Given the description of an element on the screen output the (x, y) to click on. 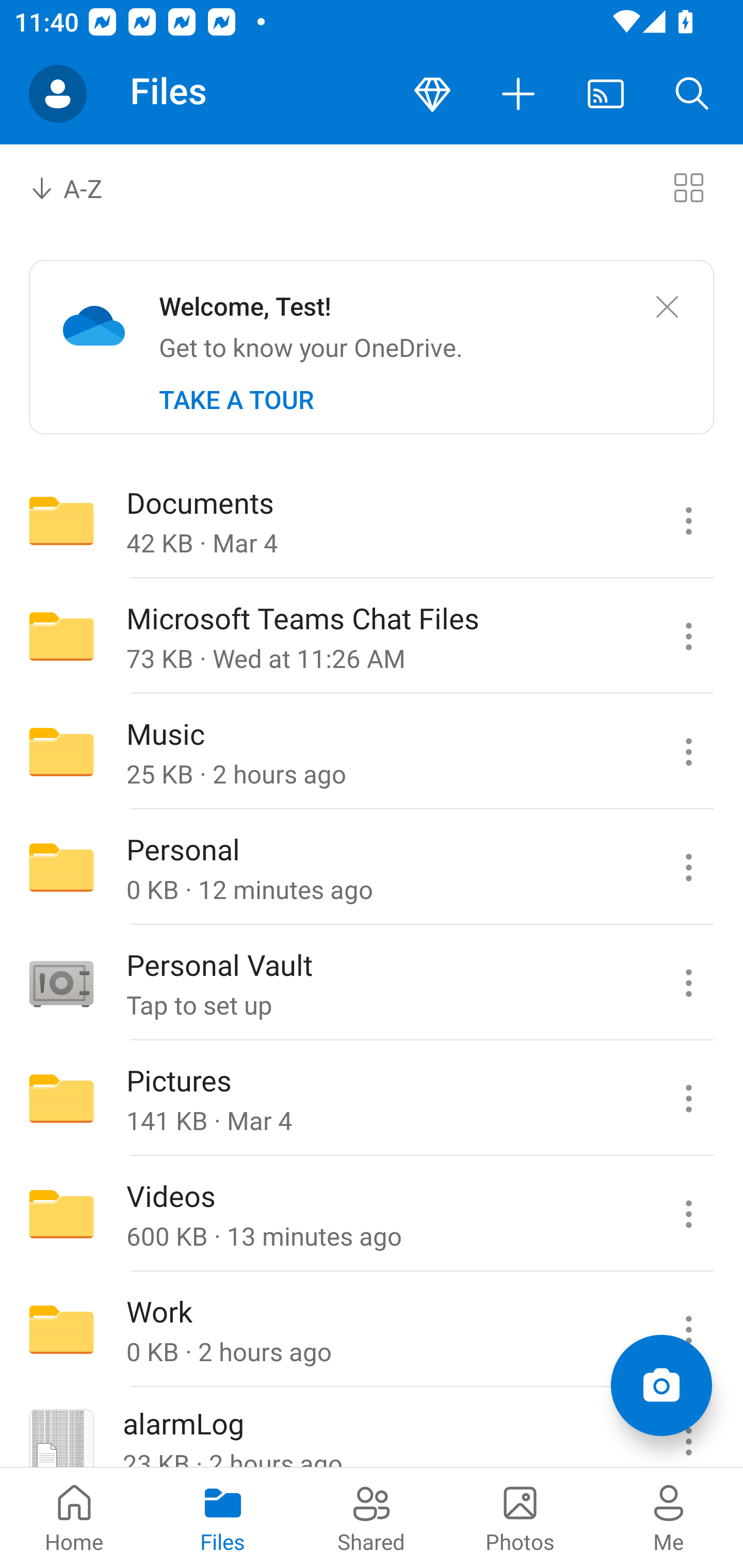
Account switcher (57, 93)
Cast. Disconnected (605, 93)
Premium button (432, 93)
More actions button (518, 93)
Search button (692, 93)
A-Z Sort by combo box, sort by name, A to Z (80, 187)
Switch to tiles view (688, 187)
Close (667, 307)
TAKE A TOUR (236, 399)
Folder Documents 42 KB · Mar 4 Documents commands (371, 520)
Documents commands (688, 520)
Microsoft Teams Chat Files commands (688, 636)
Folder Music 25 KB · 2 hours ago Music commands (371, 751)
Music commands (688, 751)
Personal commands (688, 867)
Personal Vault commands (688, 983)
Folder Pictures 141 KB · Mar 4 Pictures commands (371, 1099)
Pictures commands (688, 1099)
Videos commands (688, 1214)
Folder Work 0 KB · 2 hours ago Work commands (371, 1329)
Work commands (688, 1329)
Add items Scan (660, 1385)
alarmLog commands (688, 1427)
Home pivot Home (74, 1517)
Shared pivot Shared (371, 1517)
Photos pivot Photos (519, 1517)
Me pivot Me (668, 1517)
